Given the description of an element on the screen output the (x, y) to click on. 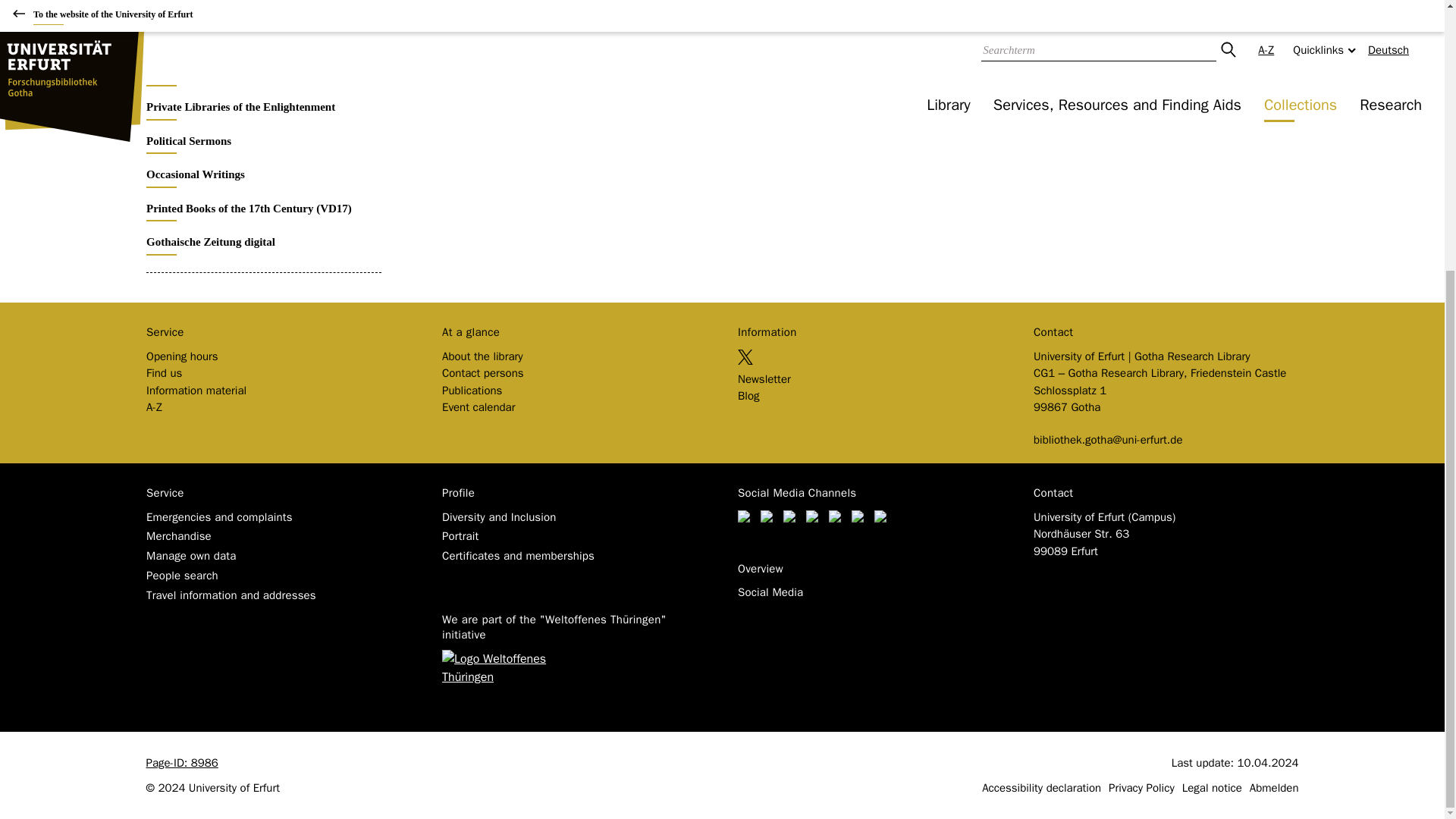
People search (180, 563)
Social Media (769, 580)
Merchandise (178, 523)
Diversity and Inclusion (498, 504)
Travel information and addresses (230, 582)
Emergencies and complaints (218, 504)
Portrait (460, 523)
Manage own data (190, 543)
Certificates and memberships (517, 543)
